Given the description of an element on the screen output the (x, y) to click on. 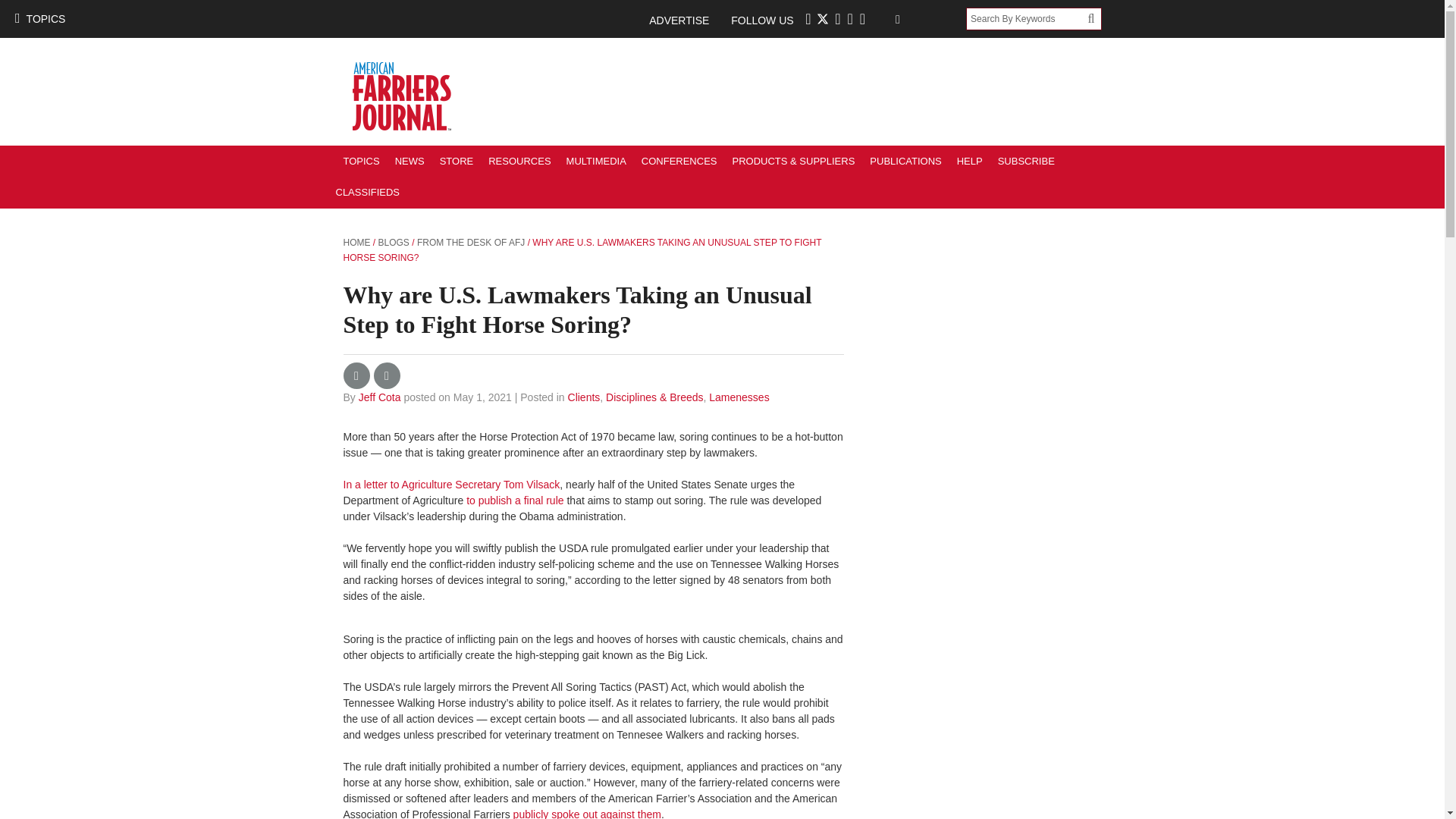
ADVERTISE (686, 20)
TOPICS (39, 18)
Search By Keywords (1026, 18)
Search By Keywords (1026, 18)
TOPICS (360, 160)
